Given the description of an element on the screen output the (x, y) to click on. 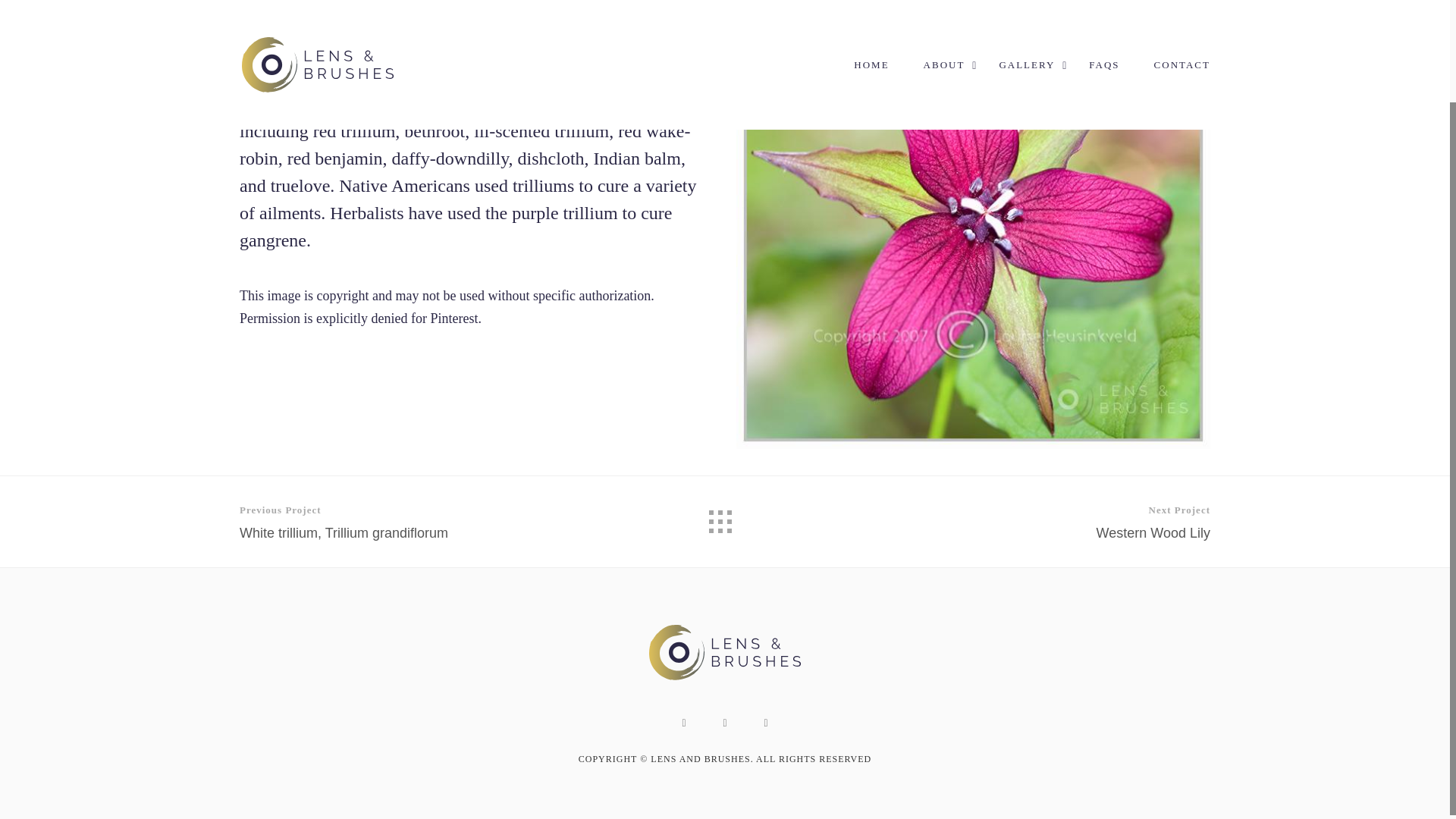
facebook (724, 723)
Lens and Brushes (724, 676)
twitter (1049, 521)
Purple trillium, trillium erectum (399, 521)
rss (765, 723)
